Given the description of an element on the screen output the (x, y) to click on. 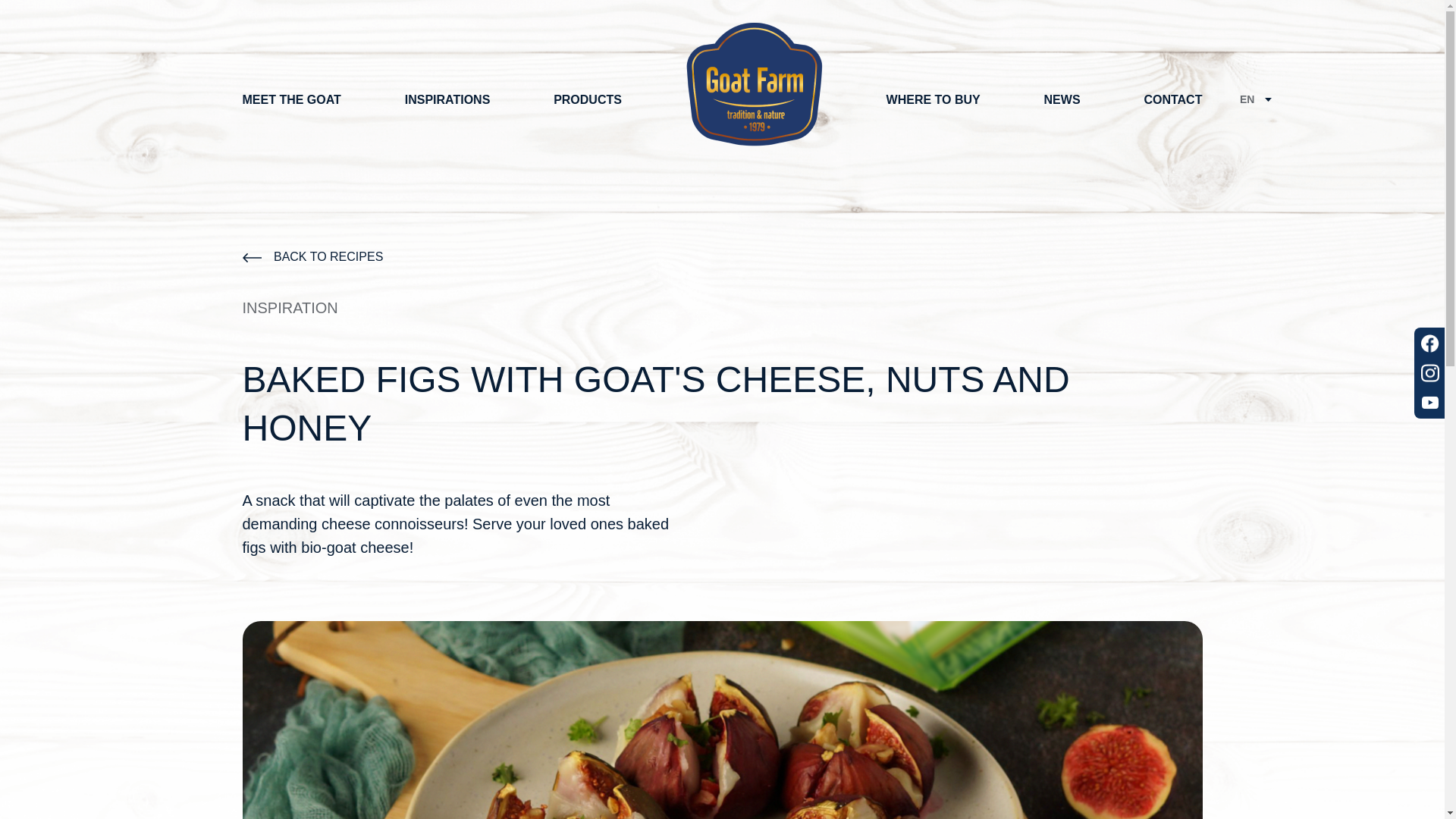
WHERE TO BUY (932, 99)
PRODUCTS (587, 99)
INSPIRATIONS (447, 99)
CONTACT (1172, 99)
BACK TO RECIPES (313, 272)
MEET THE GOAT (291, 99)
NEWS (1061, 99)
